Given the description of an element on the screen output the (x, y) to click on. 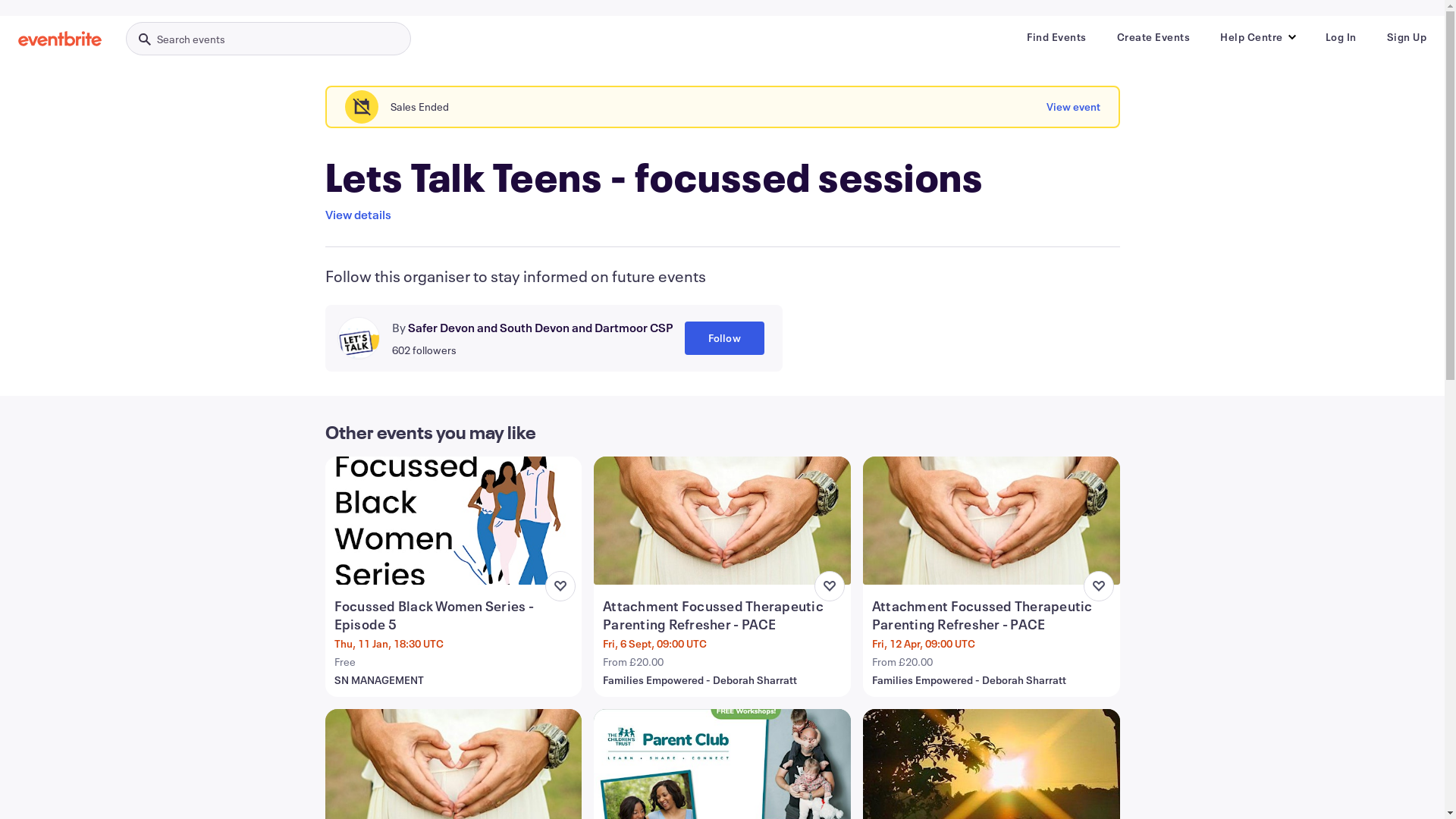
Search events Element type: text (268, 38)
Attachment Focussed Therapeutic Parenting Refresher - PACE Element type: text (723, 614)
View details Element type: text (357, 214)
Attachment Focussed Therapeutic Parenting Refresher - PACE Element type: text (992, 614)
Create Events Element type: text (1152, 36)
Sign Up Element type: text (1406, 36)
View event Element type: text (1073, 106)
Eventbrite Element type: hover (59, 38)
Find Events Element type: text (1056, 36)
Focussed Black Women Series - Episode 5 Element type: text (454, 614)
Follow Element type: text (723, 337)
Log In Element type: text (1340, 36)
